Given the description of an element on the screen output the (x, y) to click on. 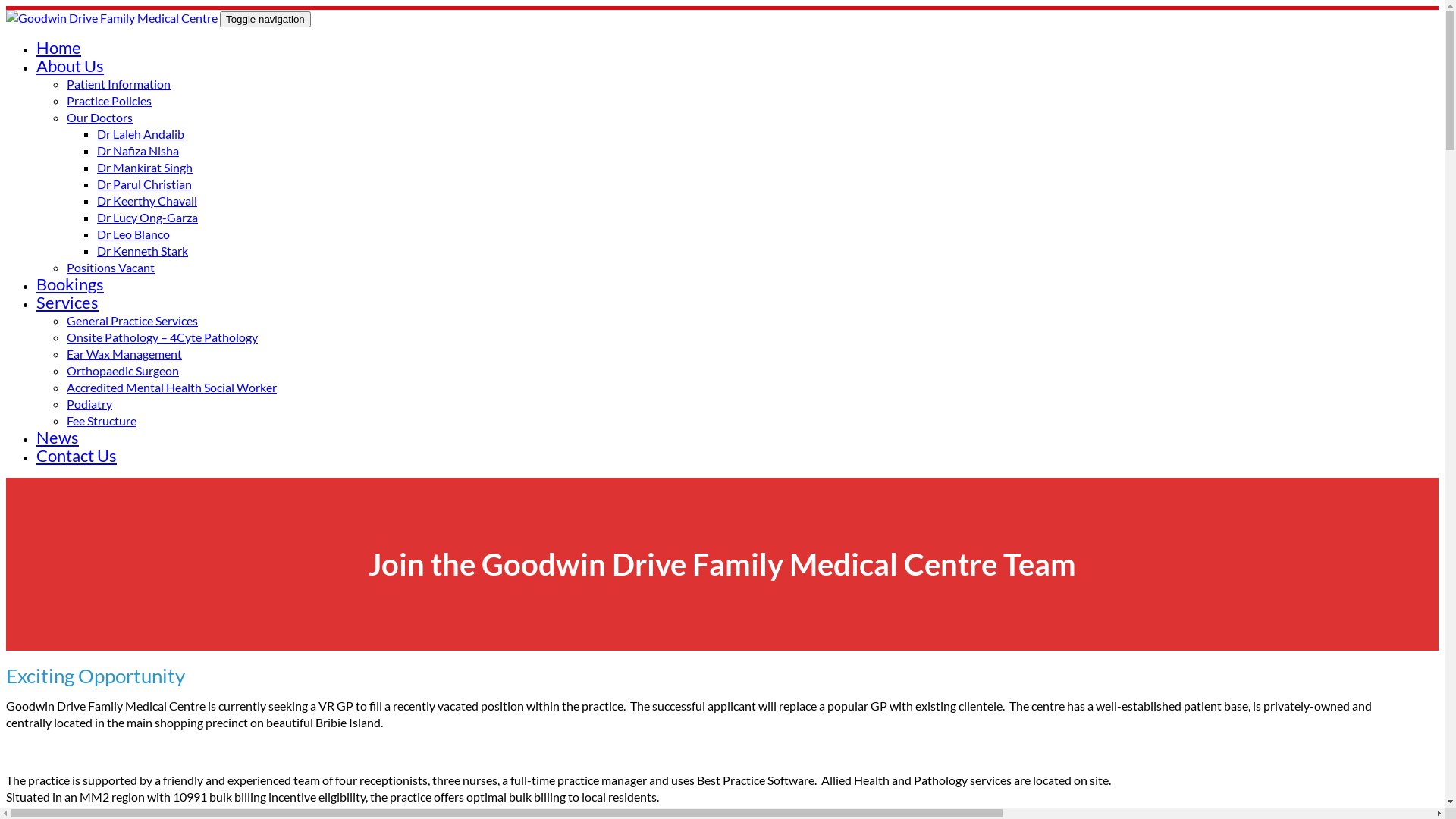
Toggle navigation Element type: text (264, 19)
Dr Laleh Andalib Element type: text (140, 133)
General Practice Services Element type: text (131, 320)
About Us Element type: text (69, 65)
Contact Us Element type: text (76, 455)
Patient Information Element type: text (118, 83)
Ear Wax Management Element type: text (124, 353)
Our Doctors Element type: text (99, 116)
Services Element type: text (67, 301)
Dr Keerthy Chavali Element type: text (147, 200)
Positions Vacant Element type: text (110, 267)
Practice Policies Element type: text (108, 100)
Home Element type: text (58, 47)
Dr Mankirat Singh Element type: text (144, 167)
Dr Lucy Ong-Garza Element type: text (147, 217)
Podiatry Element type: text (89, 403)
Fee Structure Element type: text (101, 420)
Dr Parul Christian Element type: text (144, 183)
News Element type: text (57, 436)
Orthopaedic Surgeon Element type: text (122, 370)
Accredited Mental Health Social Worker Element type: text (171, 386)
Dr Leo Blanco Element type: text (133, 233)
Dr Kenneth Stark Element type: text (142, 250)
Bookings Element type: text (69, 283)
Dr Nafiza Nisha Element type: text (137, 150)
